Given the description of an element on the screen output the (x, y) to click on. 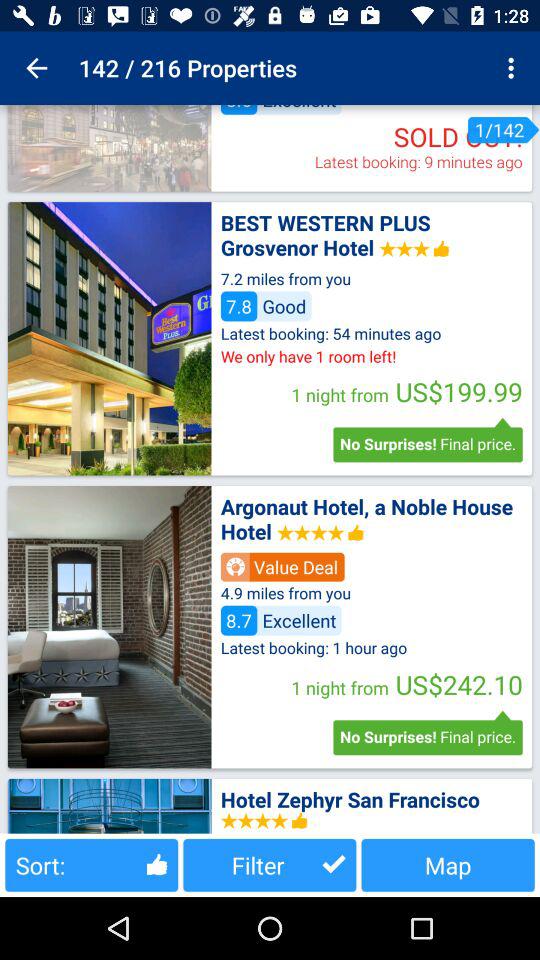
turn on icon to the right of the filter button (447, 864)
